Given the description of an element on the screen output the (x, y) to click on. 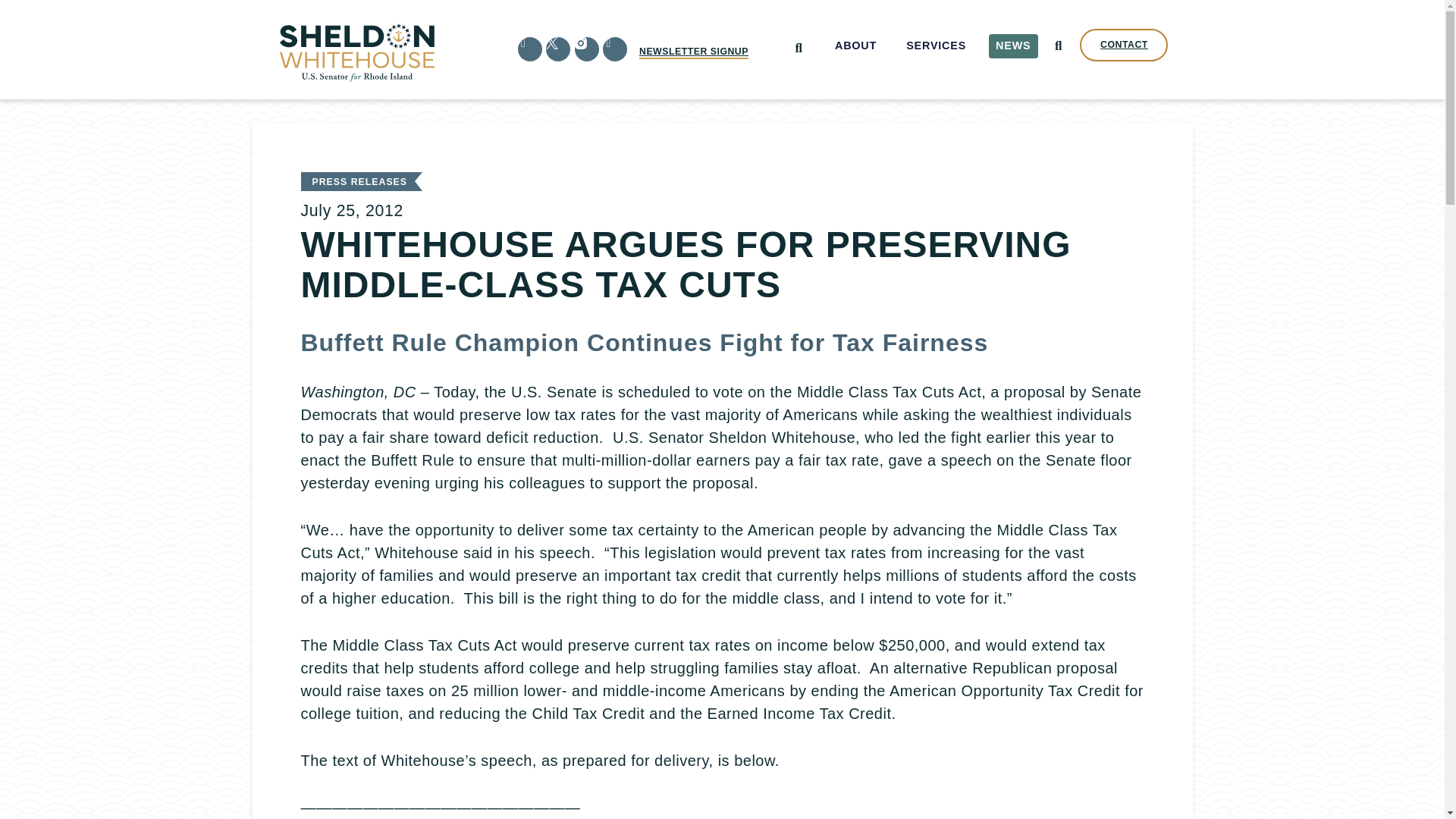
NEWS (1013, 46)
ABOUT (855, 46)
SERVICES (936, 46)
CONTACT (1123, 44)
NEWSLETTER SIGNUP (693, 51)
PRESS RELEASES (360, 181)
